Given the description of an element on the screen output the (x, y) to click on. 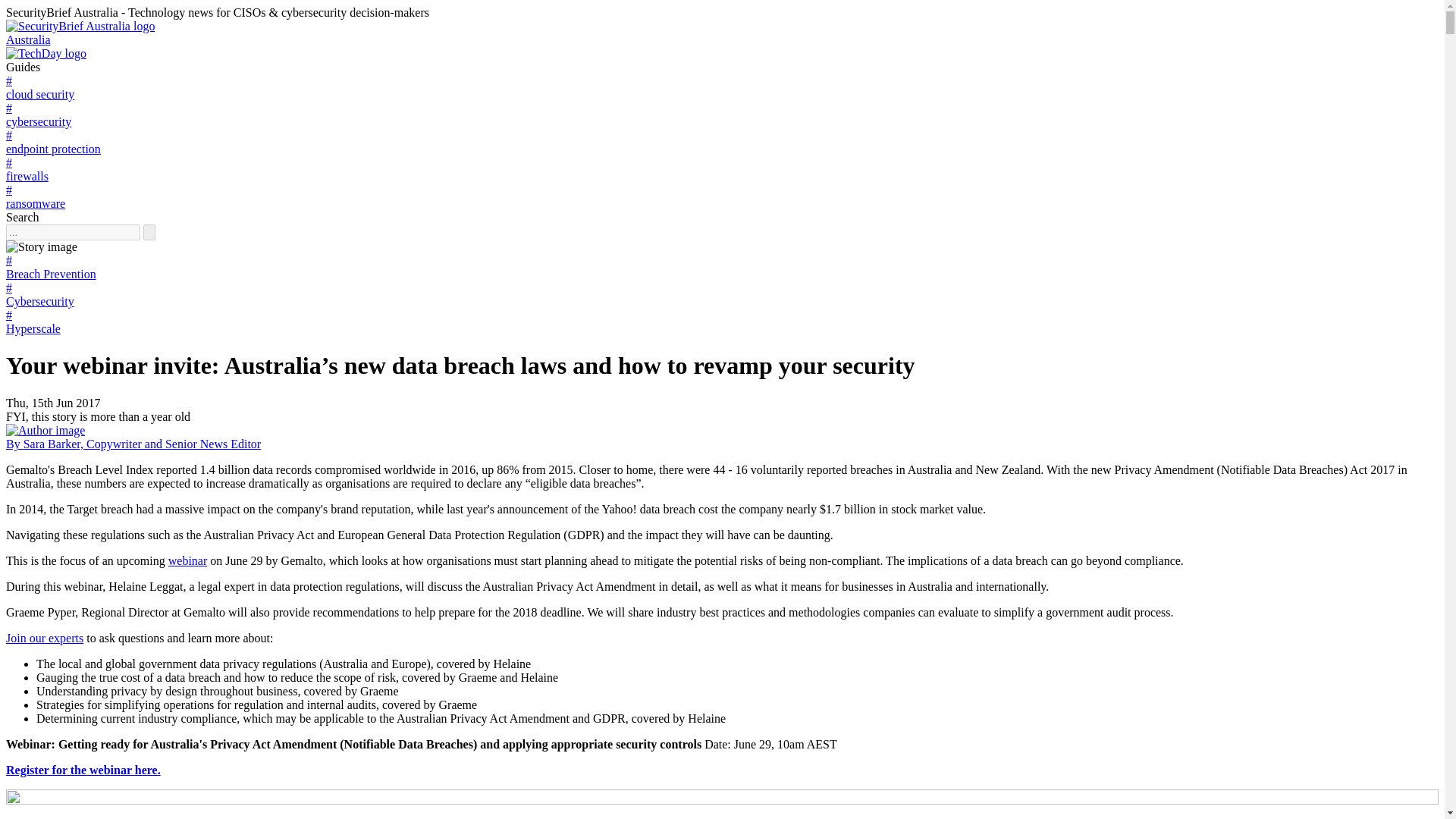
Register for the webinar here. (82, 769)
Join our experts (43, 637)
webinar (188, 560)
